Given the description of an element on the screen output the (x, y) to click on. 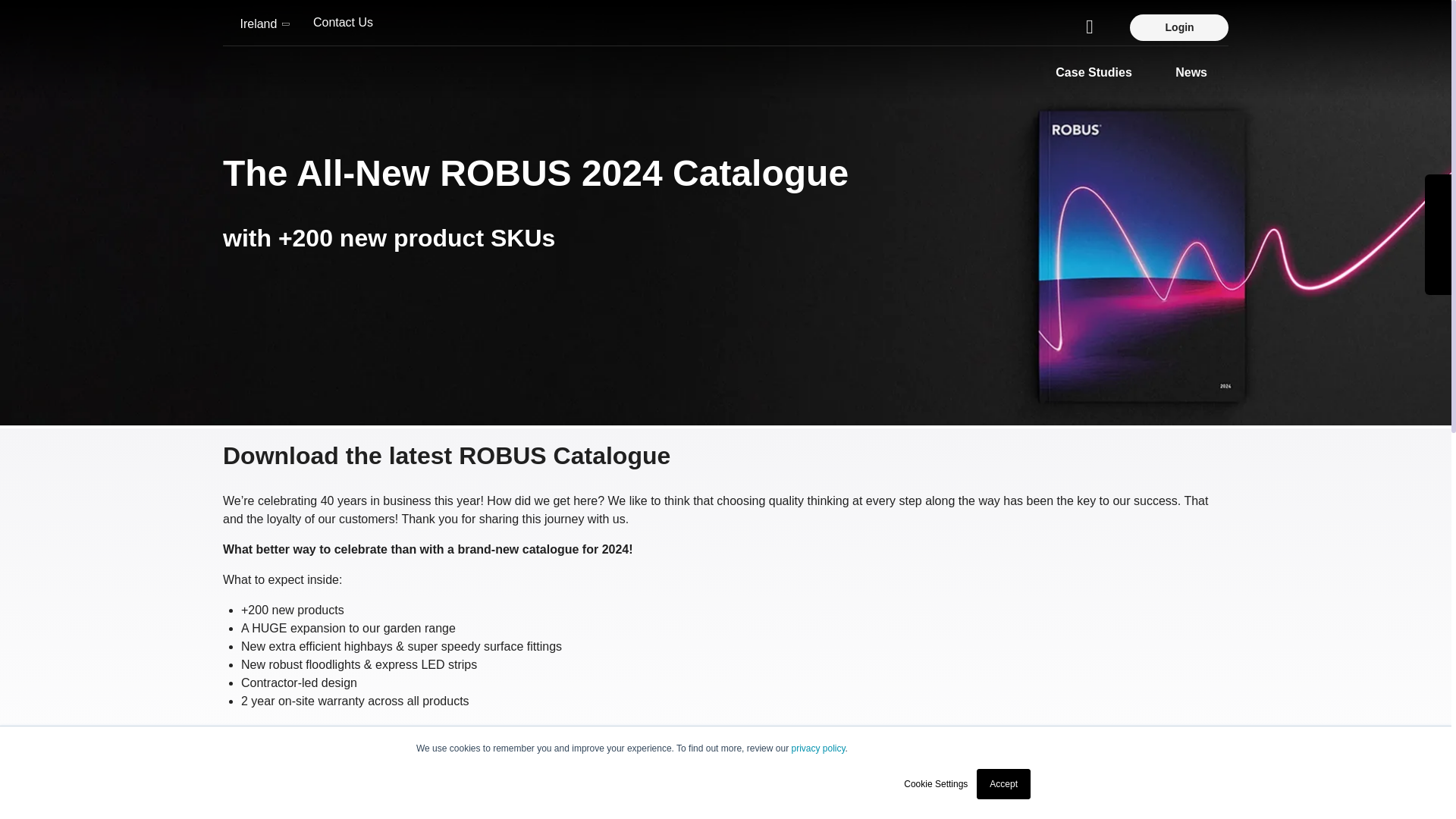
Cookie Settings (936, 784)
instagram (1438, 256)
twitter (1438, 212)
facebook (1438, 190)
News (1190, 72)
Case Studies (1093, 72)
youtube (1438, 278)
Login (1178, 26)
Contact Us (342, 22)
linkedin (1438, 234)
